Given the description of an element on the screen output the (x, y) to click on. 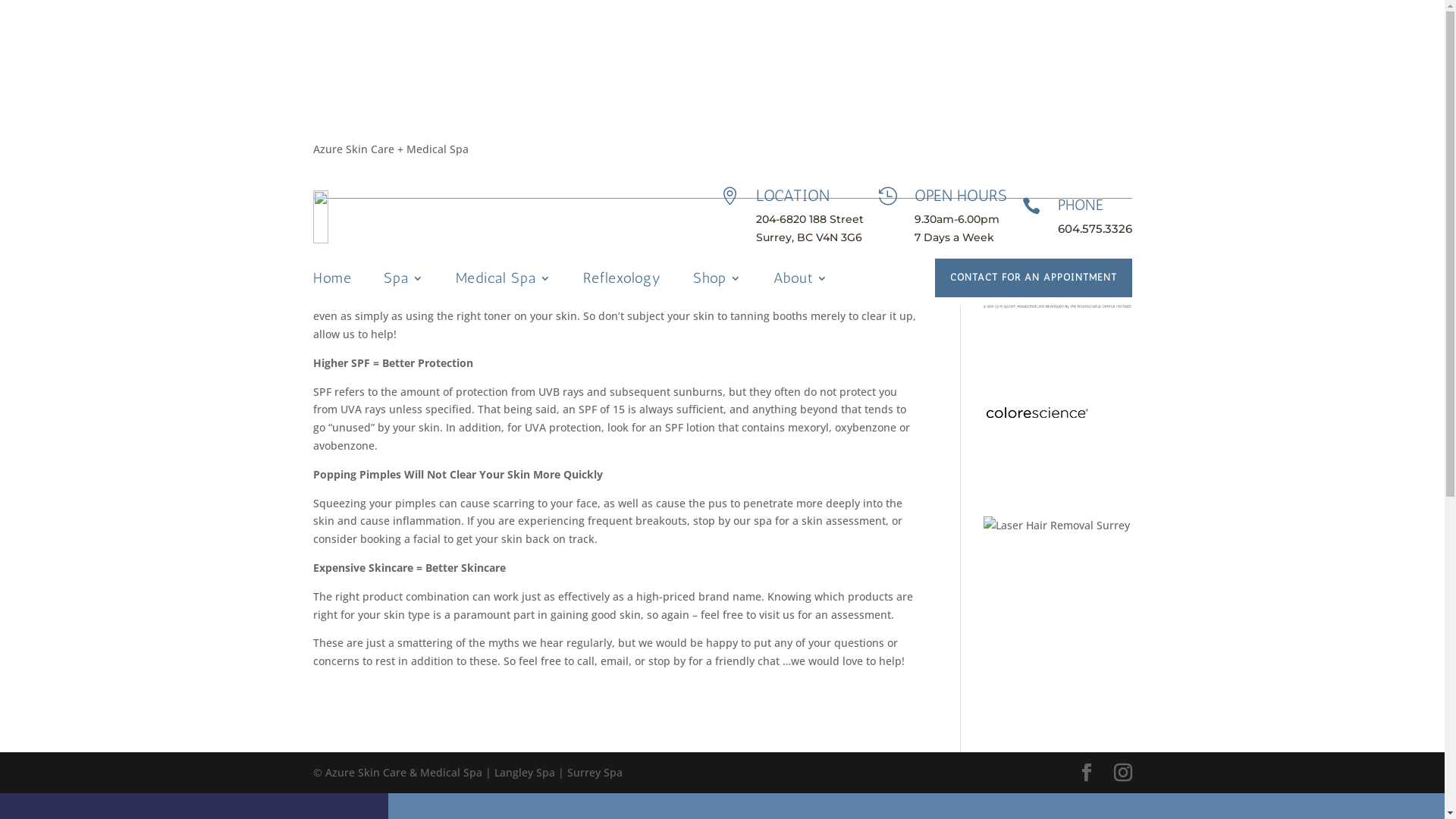
Spa Element type: text (403, 281)
Azure Element type: text (342, 82)
604.575.3326 Element type: text (1094, 228)
Shop Element type: text (717, 281)
Salon News Element type: text (467, 82)
Reflexology Element type: text (621, 281)
azure logo full Element type: hover (402, 216)
About Element type: text (800, 281)
Follow on Facebook Element type: hover (480, 159)
Home Element type: text (331, 281)
Medical Spa Element type: text (502, 281)
CONTACT FOR AN APPOINTMENT Element type: text (1032, 277)
